Given the description of an element on the screen output the (x, y) to click on. 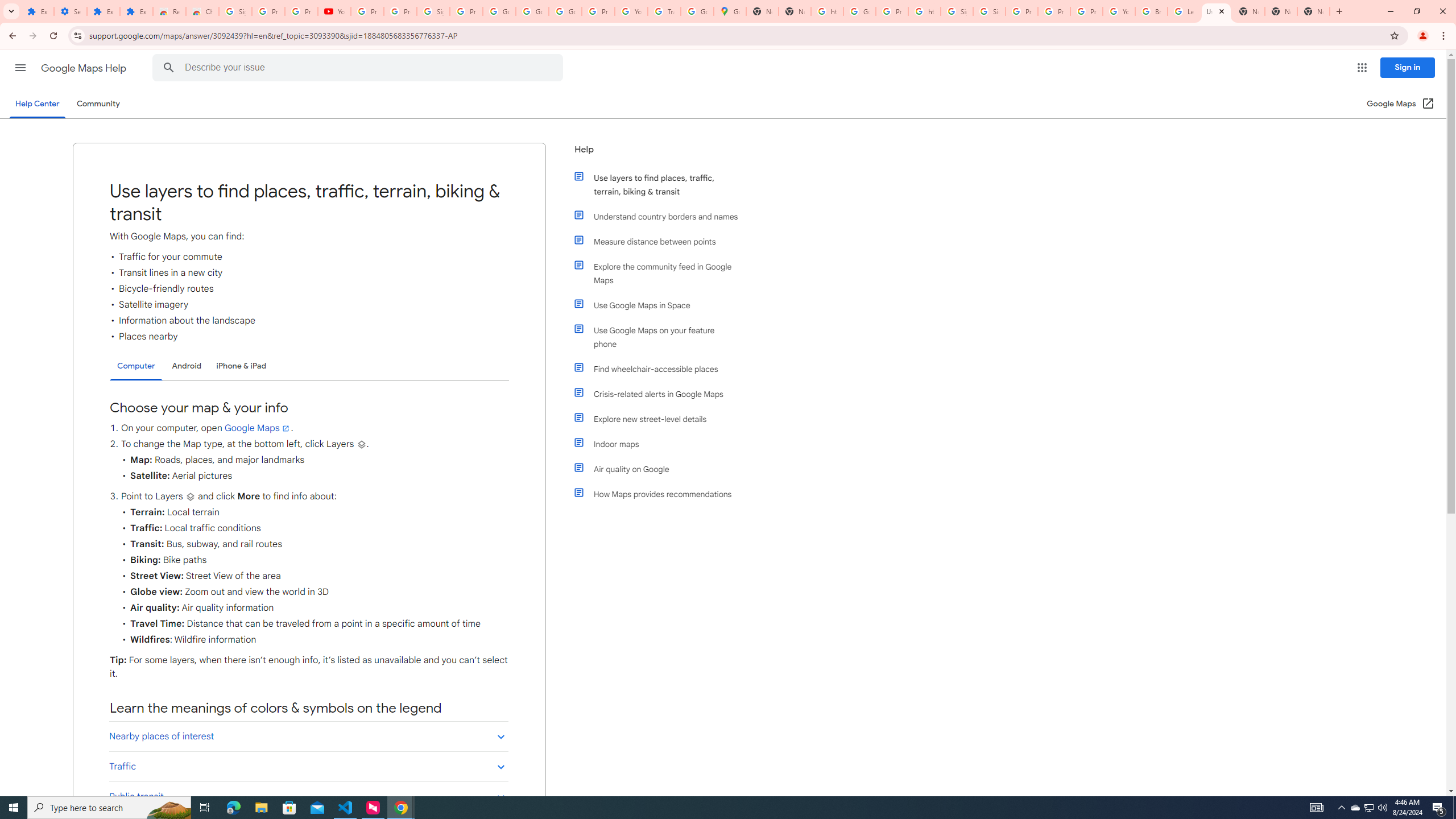
Explore the community feed in Google Maps (661, 273)
New Tab (1281, 11)
https://scholar.google.com/ (924, 11)
YouTube (334, 11)
Privacy Help Center - Policies Help (1021, 11)
Help (656, 153)
Android (186, 365)
Understand country borders and names (661, 216)
Find wheelchair-accessible places (661, 368)
Main menu (20, 67)
